Given the description of an element on the screen output the (x, y) to click on. 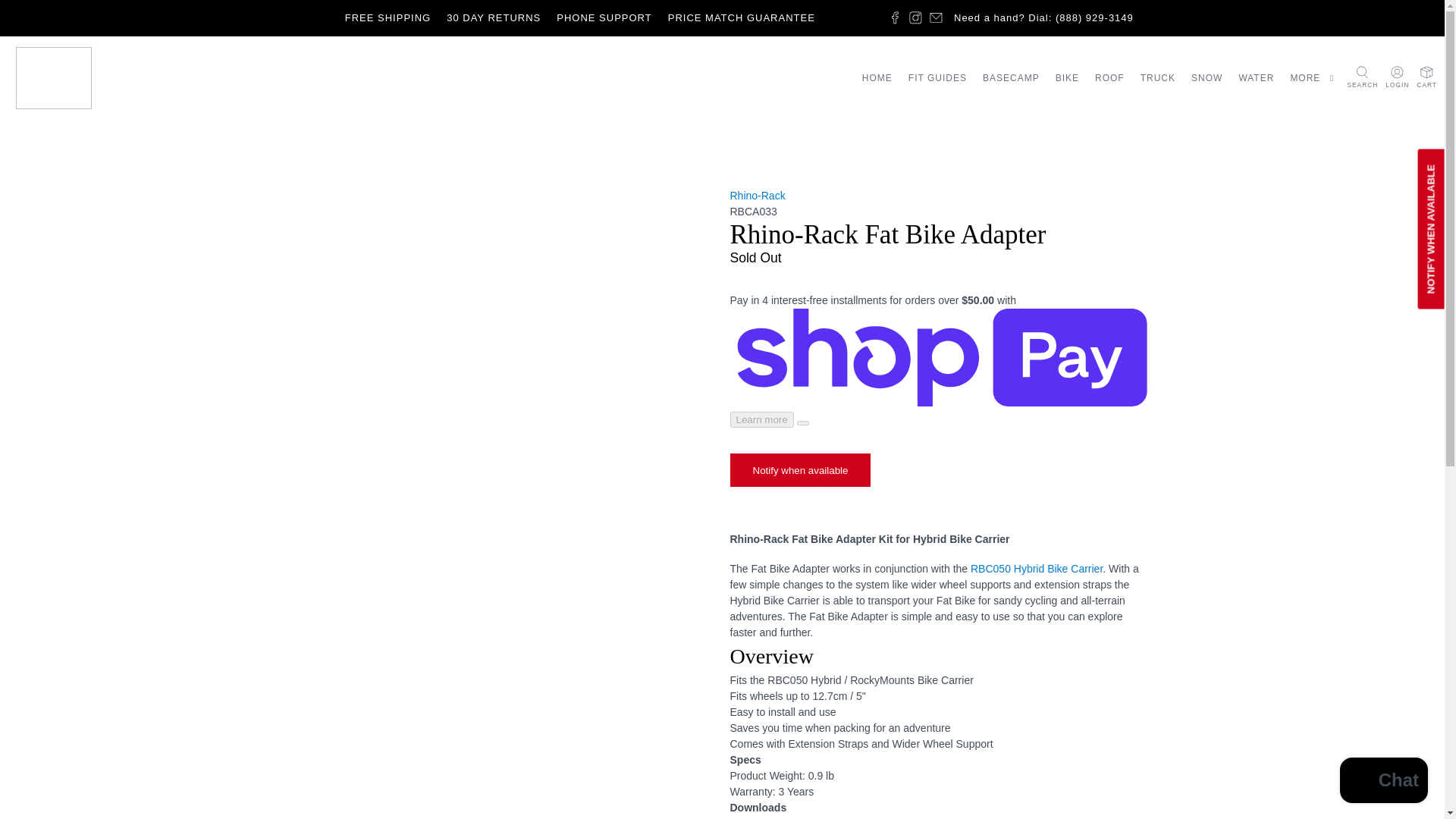
FREE SHIPPING (387, 18)
BASECAMP (1010, 77)
PRICE MATCH GUARANTEE (740, 18)
Rhino-Rack (756, 195)
30 DAY RETURNS (493, 18)
ROOF (1109, 77)
MORE (1312, 77)
Rhino-Rack Hybrid Bike Carrier (1036, 568)
WATER (1256, 77)
